Given the description of an element on the screen output the (x, y) to click on. 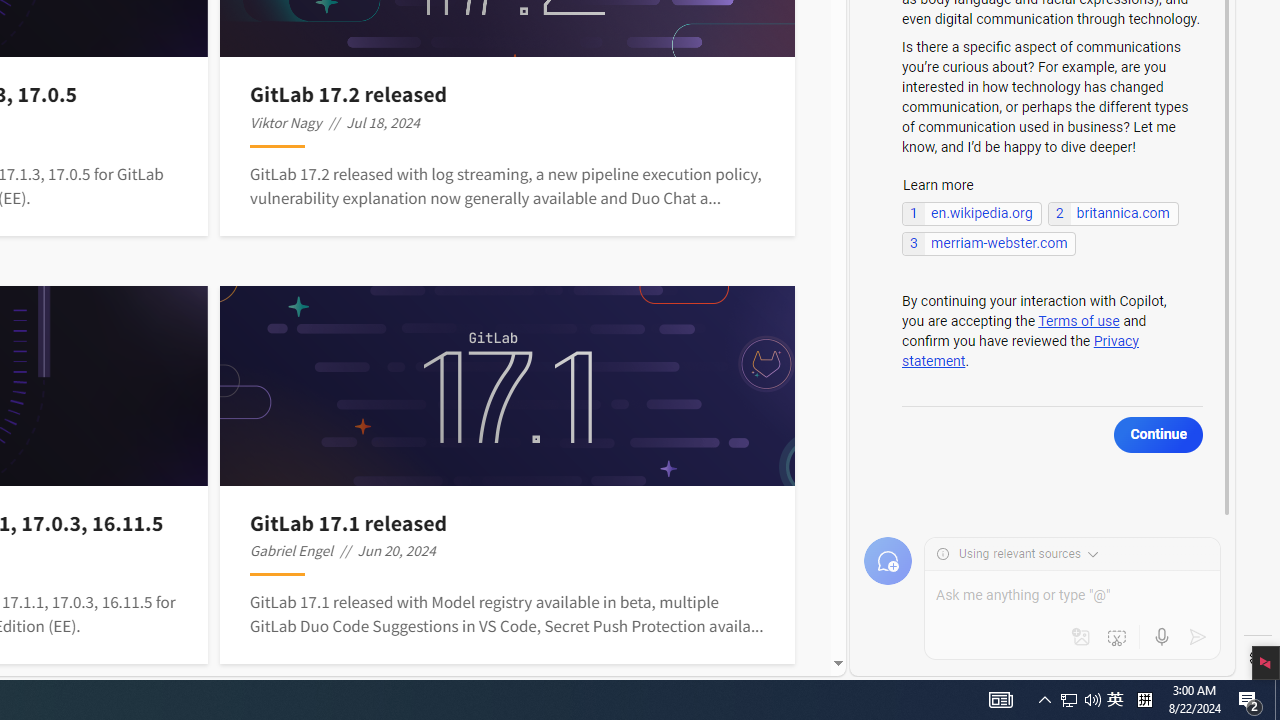
Viktor Nagy (285, 121)
Post Image (508, 385)
Post Image (508, 385)
Gabriel Engel (291, 550)
GitLab 17.1 released (507, 522)
GitLab 17.2 released (507, 93)
